Given the description of an element on the screen output the (x, y) to click on. 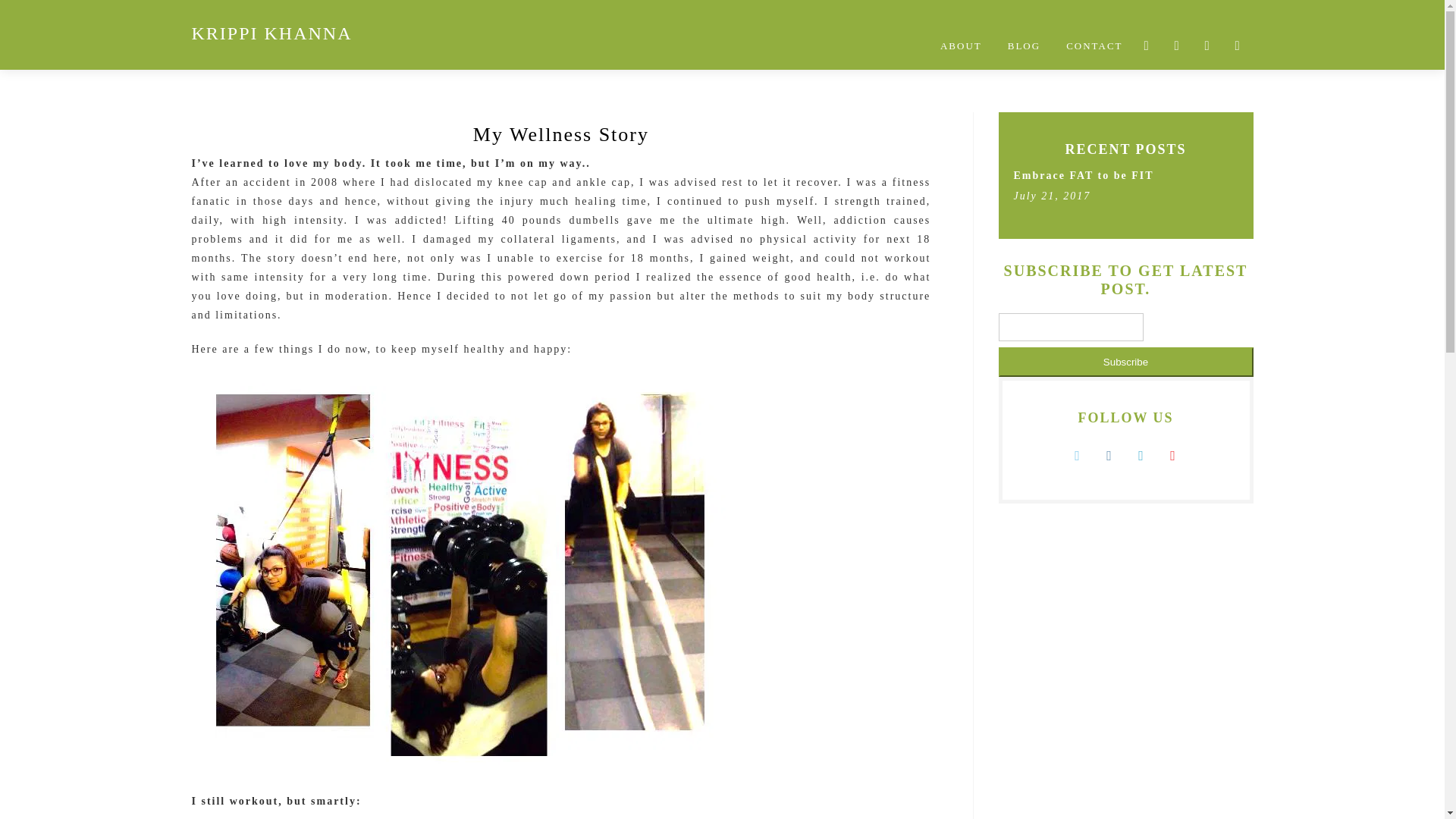
Follow on LinkedIn (1207, 46)
Follow on Pinterest (1173, 455)
Subscribe (1124, 361)
Follow on Instagram (1109, 455)
Follow on Twitter (1146, 46)
Follow on Pinterest (1237, 46)
Follow on LinkedIn (1141, 455)
Follow on Twitter (1077, 455)
Subscribe (1124, 361)
Embrace FAT to be FIT (1083, 174)
